Given the description of an element on the screen output the (x, y) to click on. 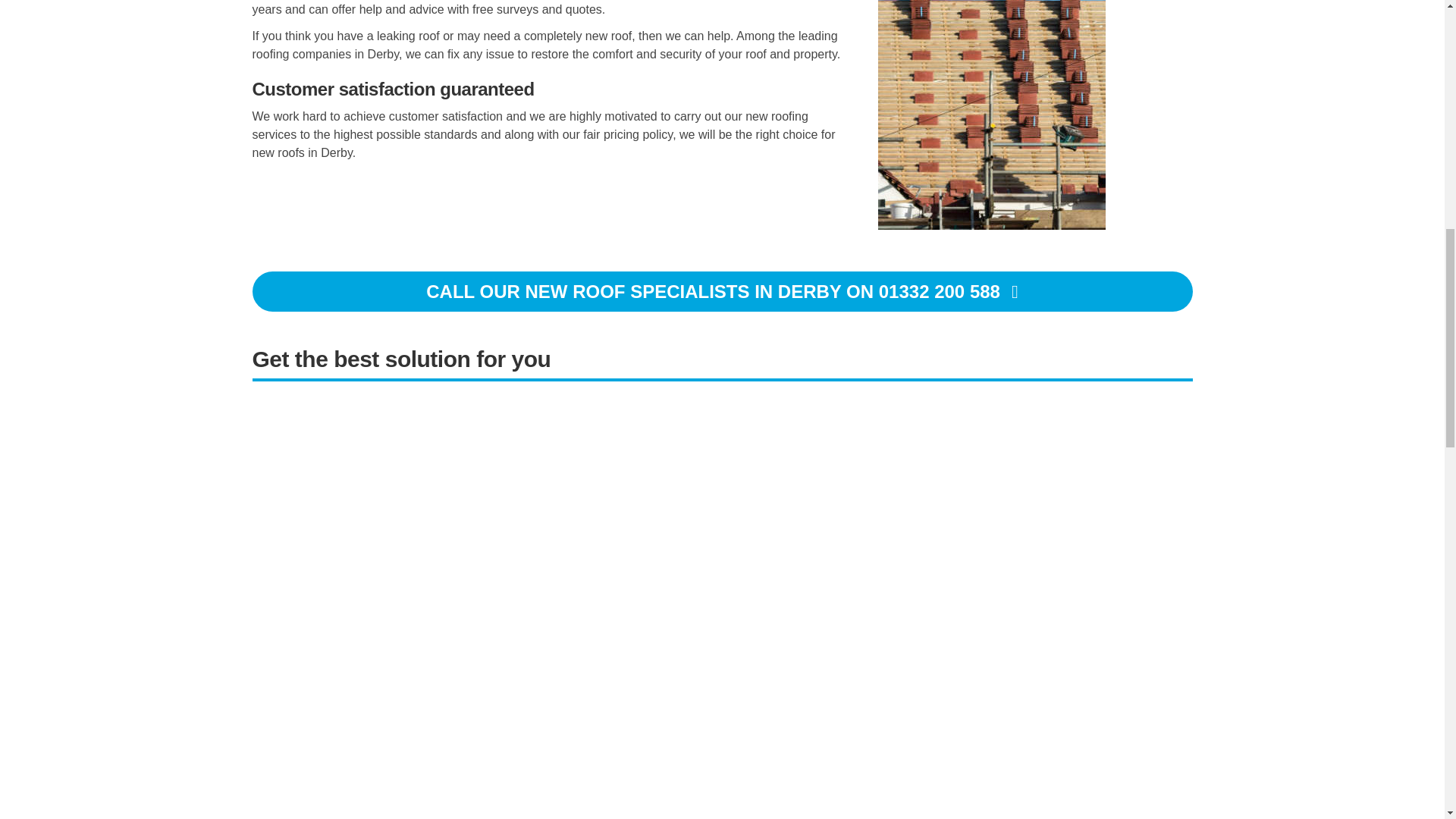
CALL OUR NEW ROOF SPECIALISTS IN DERBY ON 01332 200 588 (721, 291)
